Given the description of an element on the screen output the (x, y) to click on. 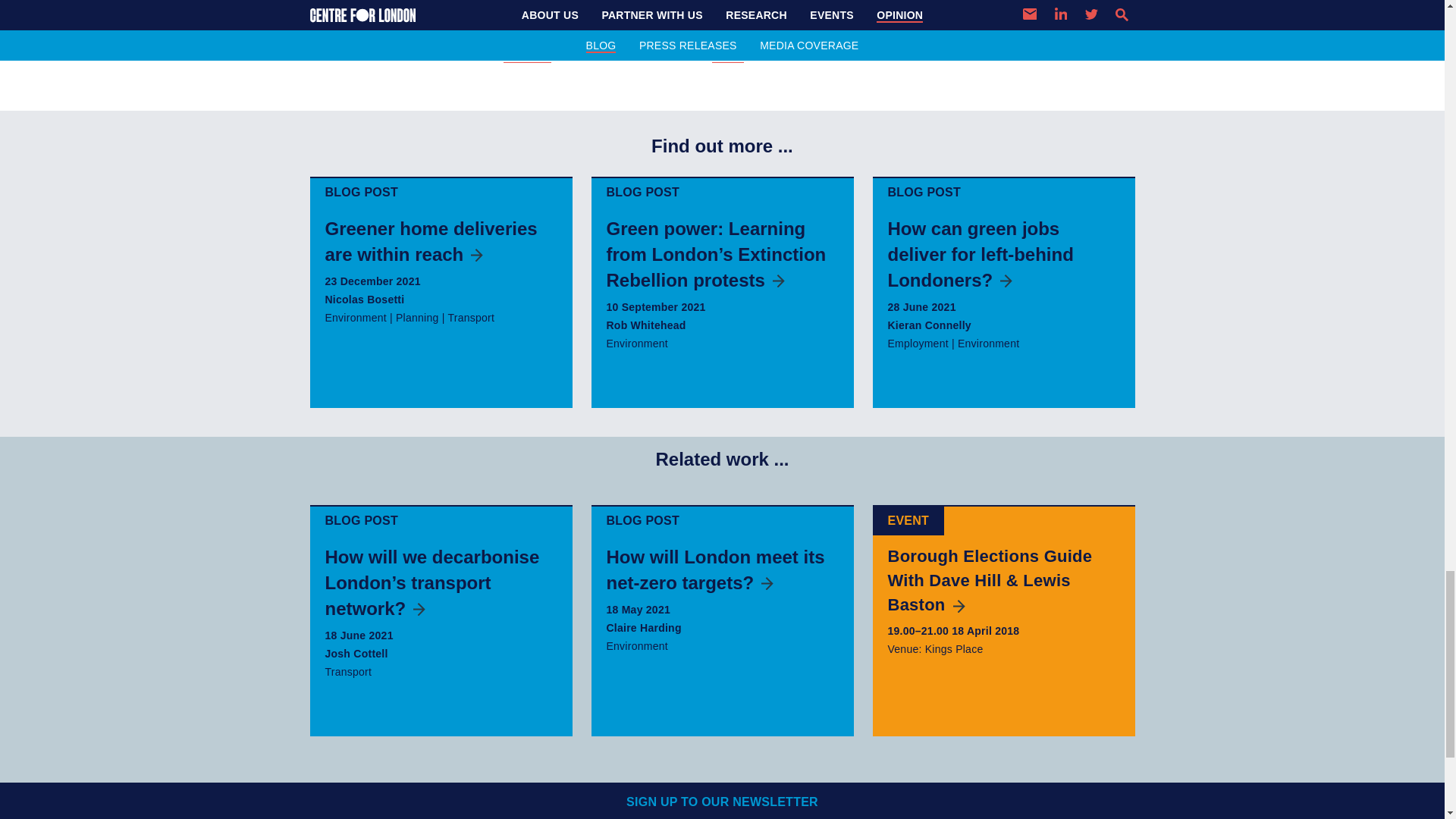
Search for content tagged as Environment (637, 645)
Search for content tagged as Environment (637, 343)
Search for content tagged as Employment (916, 343)
Search for content tagged as Transport (347, 671)
Search for content tagged as Planning (417, 317)
Search for content tagged as Environment (354, 317)
Search for content tagged as Transport (470, 317)
Search for content tagged as Environment (988, 343)
